Given the description of an element on the screen output the (x, y) to click on. 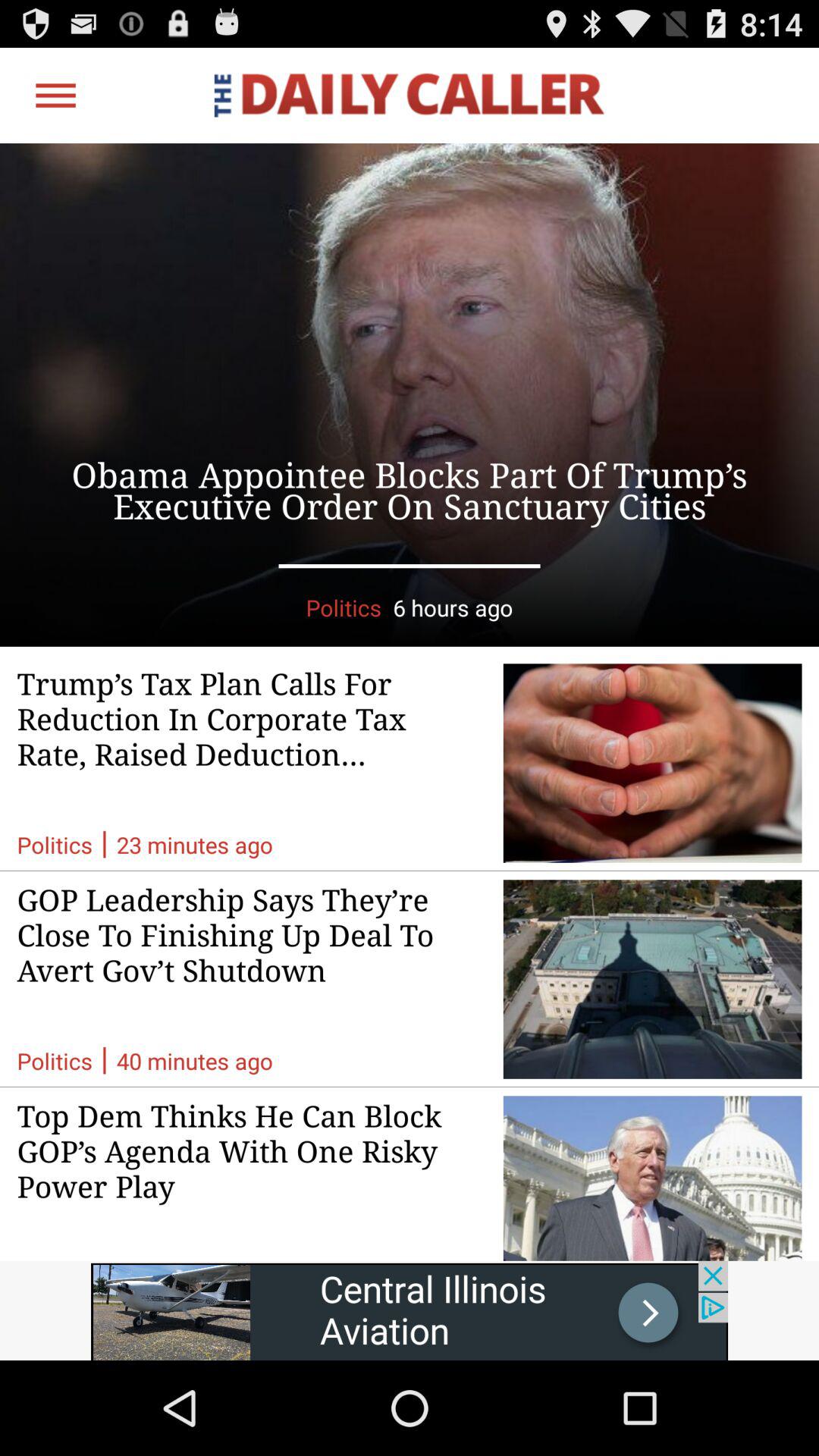
open menu options (55, 95)
